Given the description of an element on the screen output the (x, y) to click on. 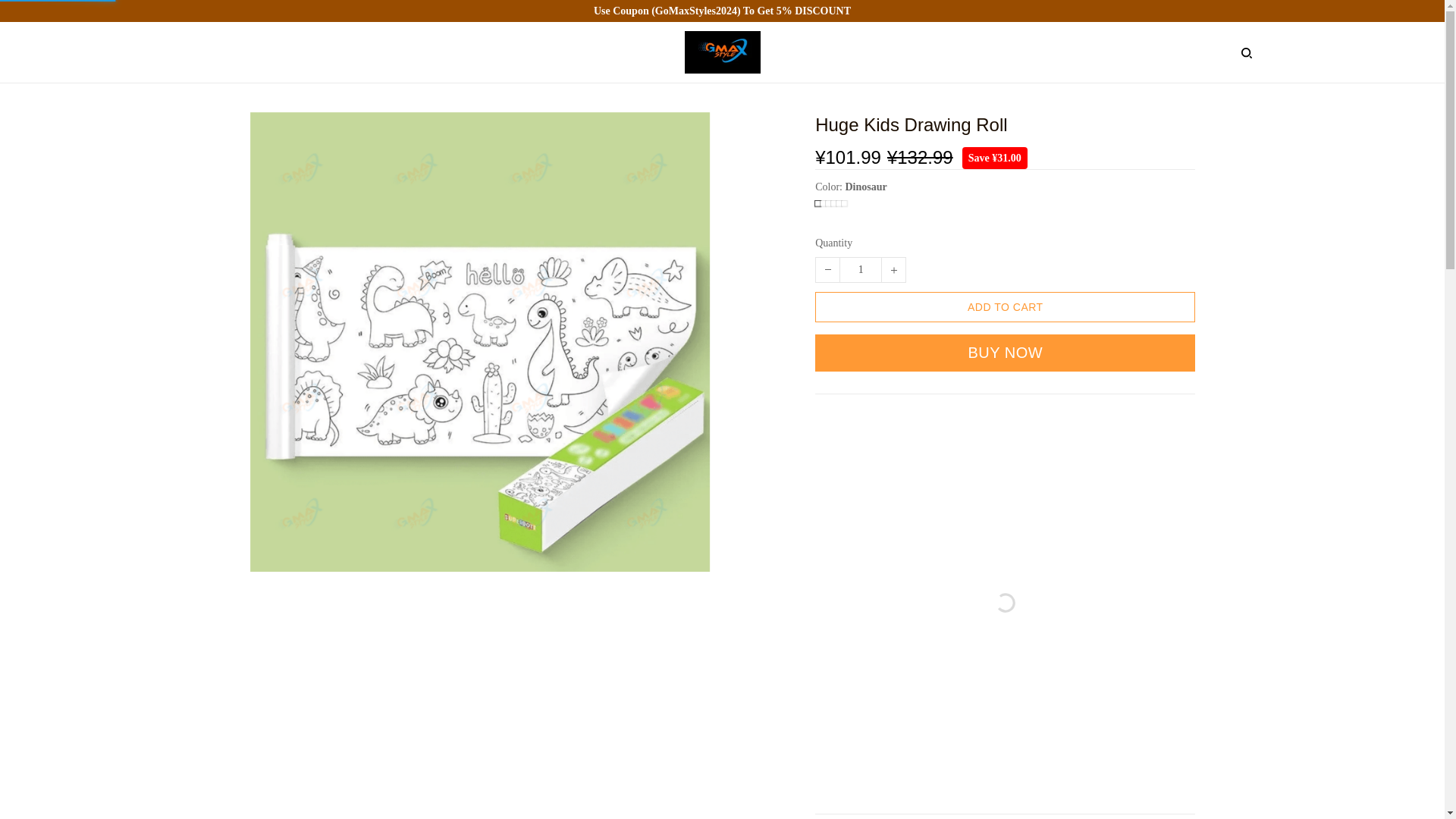
1 (860, 269)
ADD TO CART (1005, 306)
BUY NOW (1005, 352)
